Given the description of an element on the screen output the (x, y) to click on. 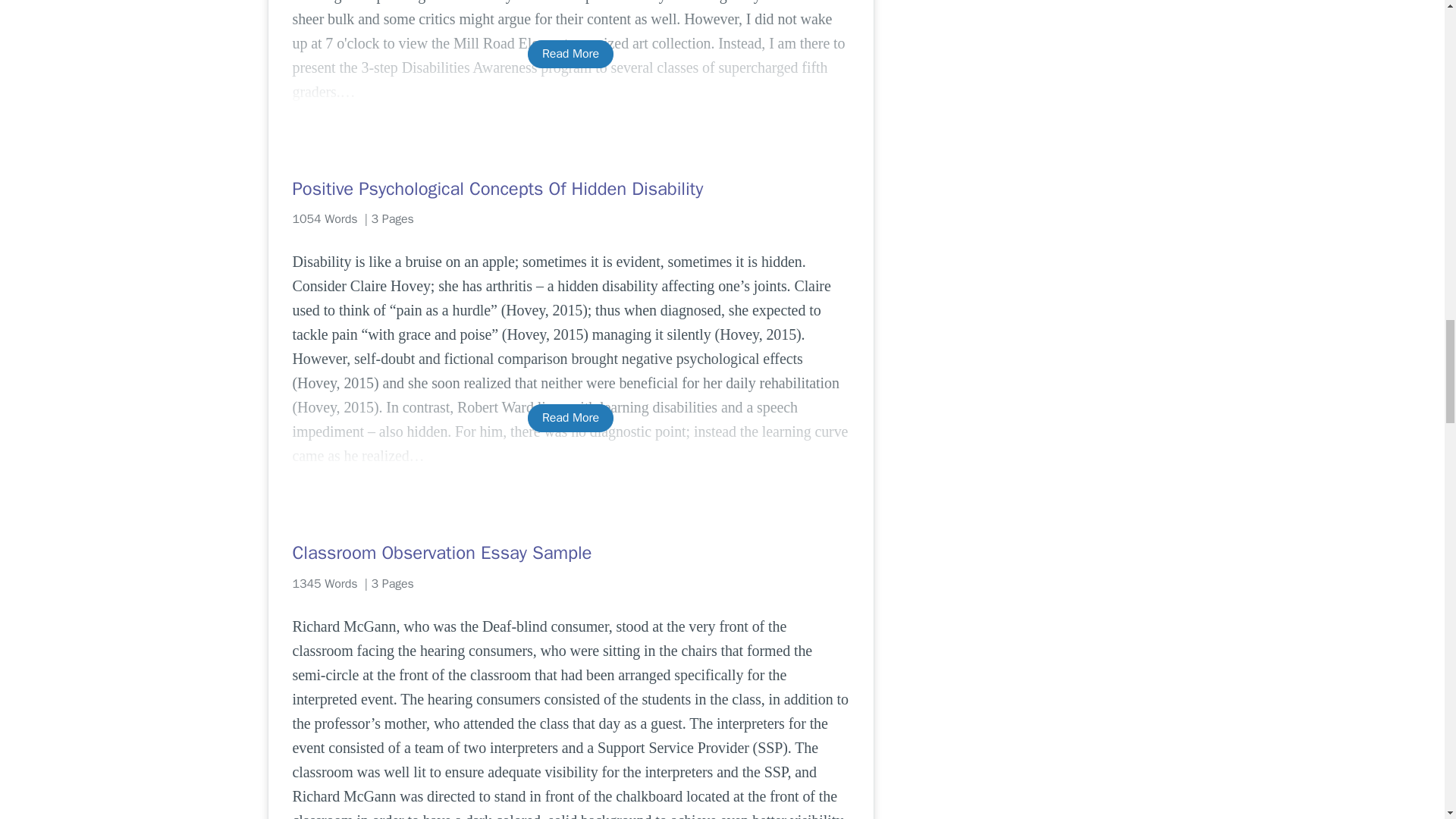
Read More (569, 418)
Classroom Observation Essay Sample (570, 552)
Positive Psychological Concepts Of Hidden Disability (570, 188)
Read More (569, 53)
